Given the description of an element on the screen output the (x, y) to click on. 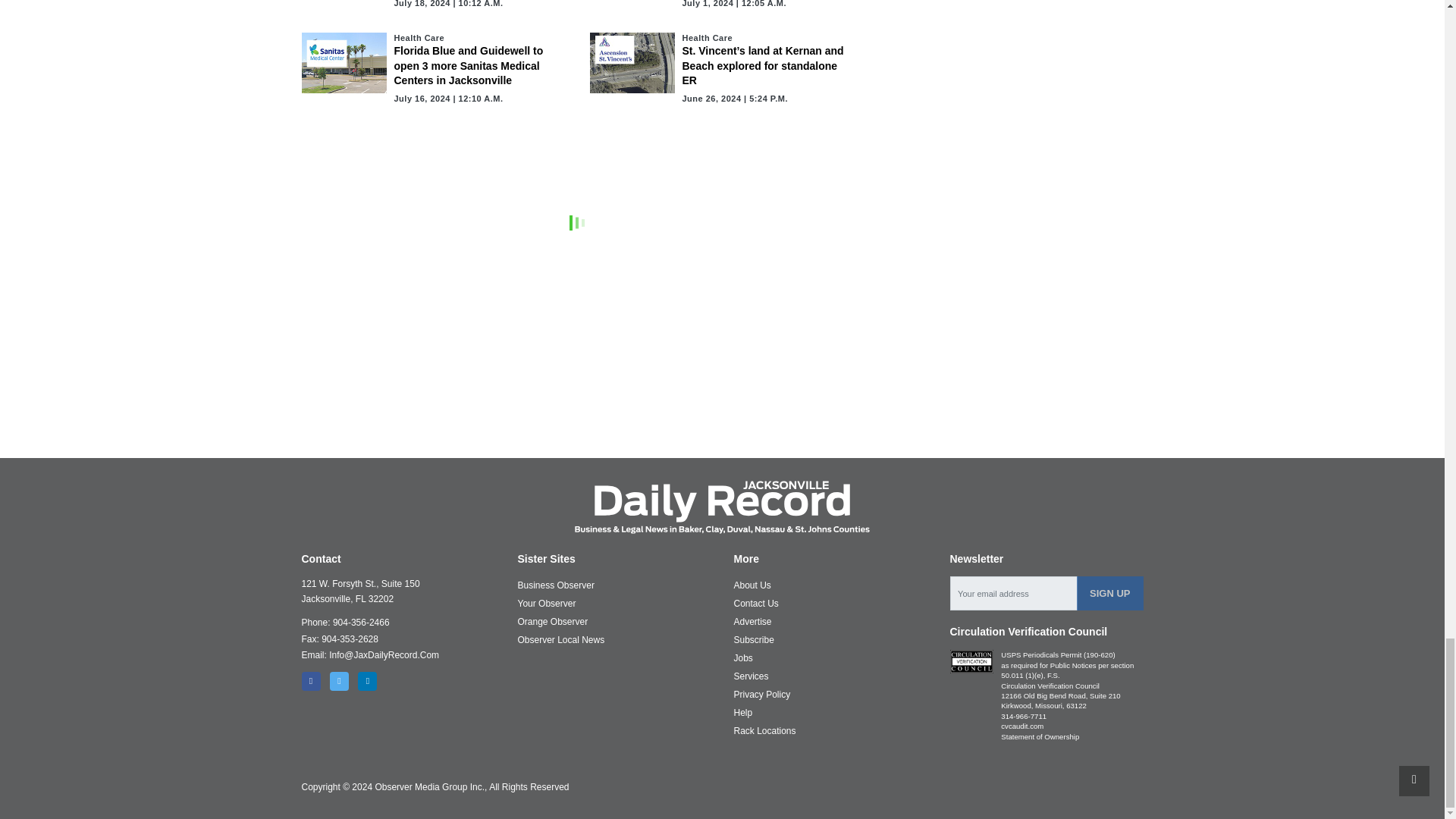
3rd party ad content (722, 402)
